Given the description of an element on the screen output the (x, y) to click on. 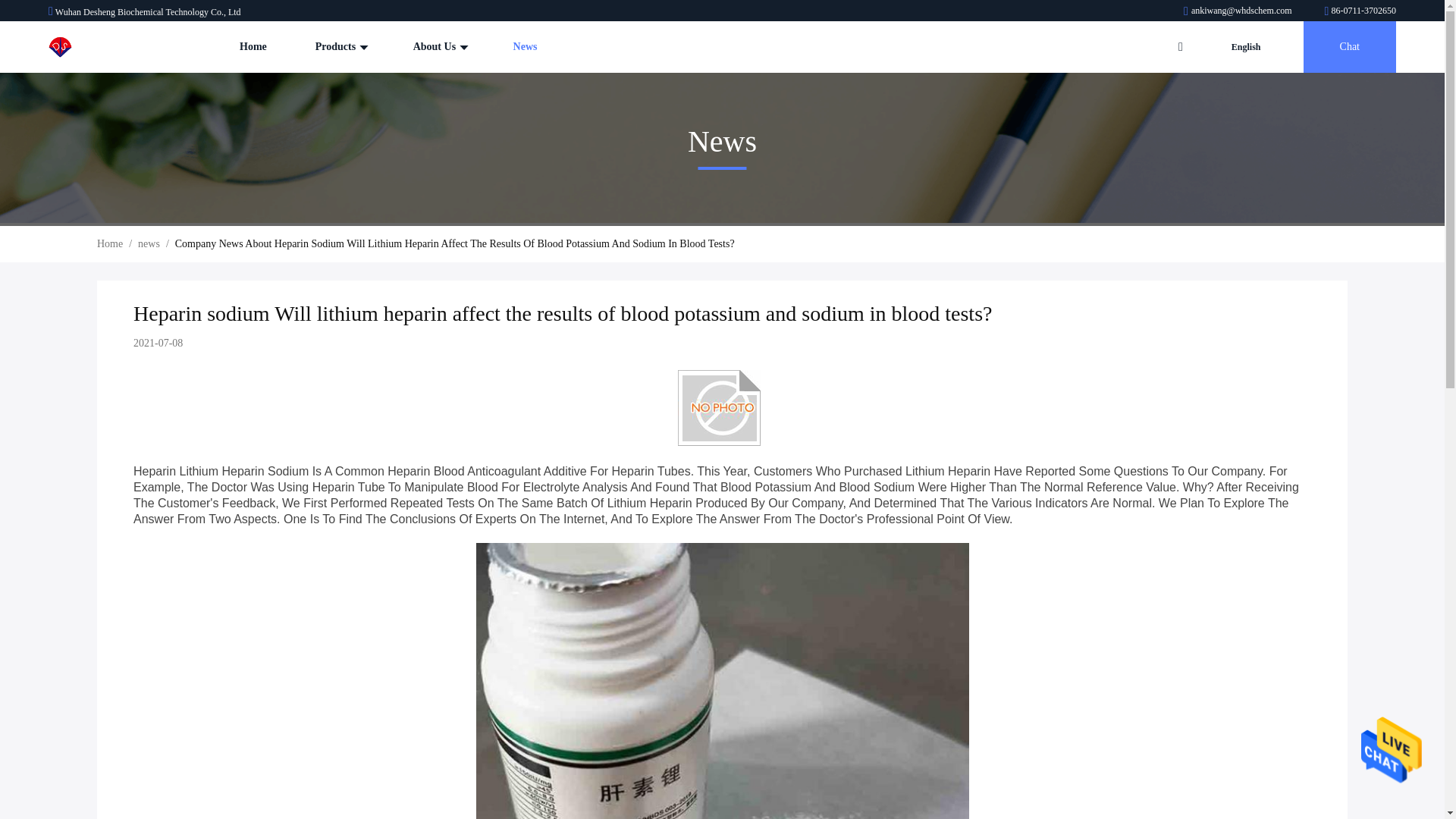
Wuhan Desheng Biochemical Technology Co., Ltd (1360, 9)
Wuhan Desheng Biochemical Technology Co., Ltd (96, 46)
Products (340, 46)
86-0711-3702650 (1360, 9)
Products (340, 46)
Wuhan Desheng Biochemical Technology Co., Ltd (1238, 9)
About Us (438, 46)
About Us (438, 46)
Chat (1349, 46)
